Given the description of an element on the screen output the (x, y) to click on. 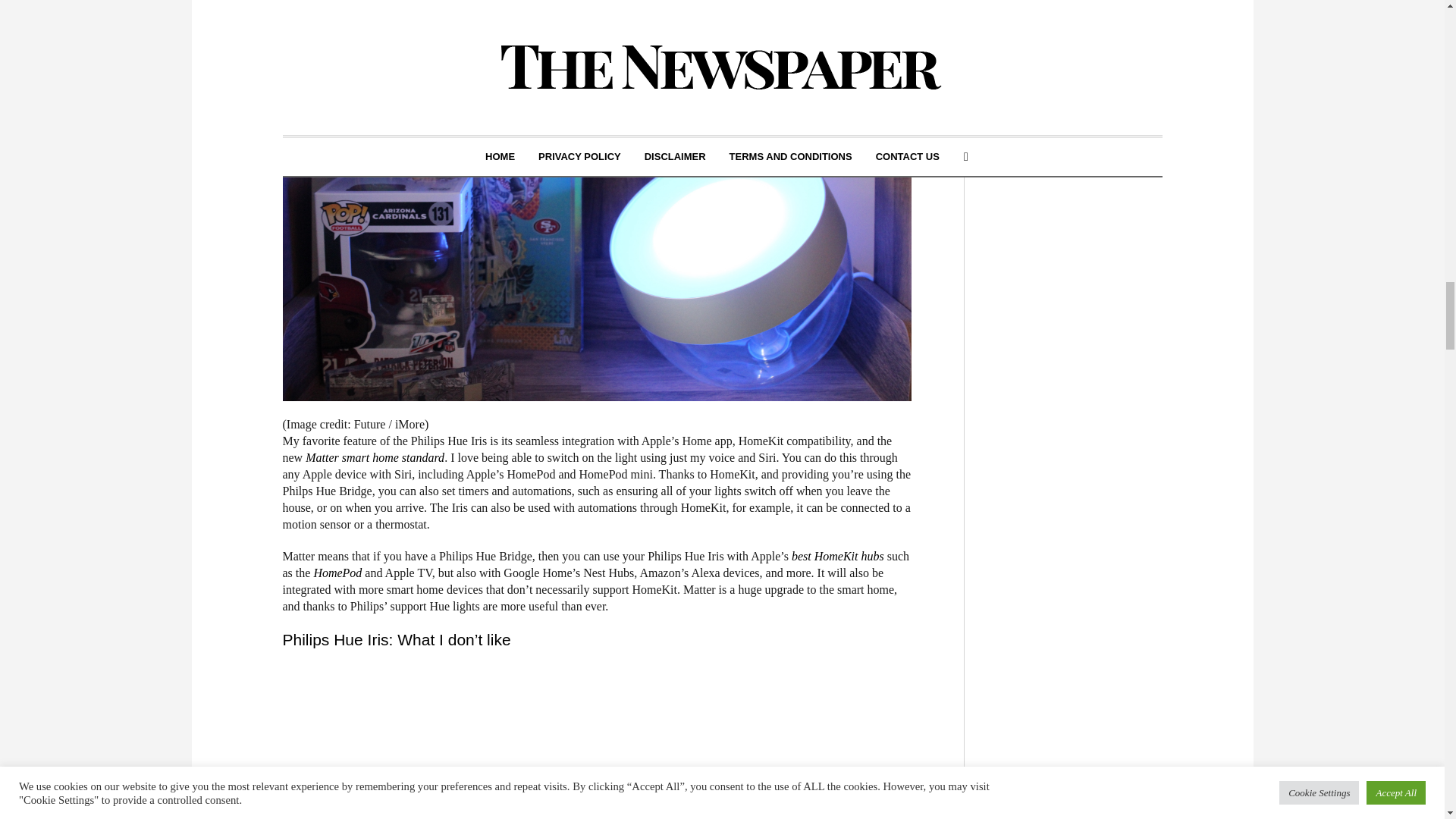
Matter smart home standard (374, 457)
HomePod (337, 572)
best HomeKit hubs (837, 555)
